Given the description of an element on the screen output the (x, y) to click on. 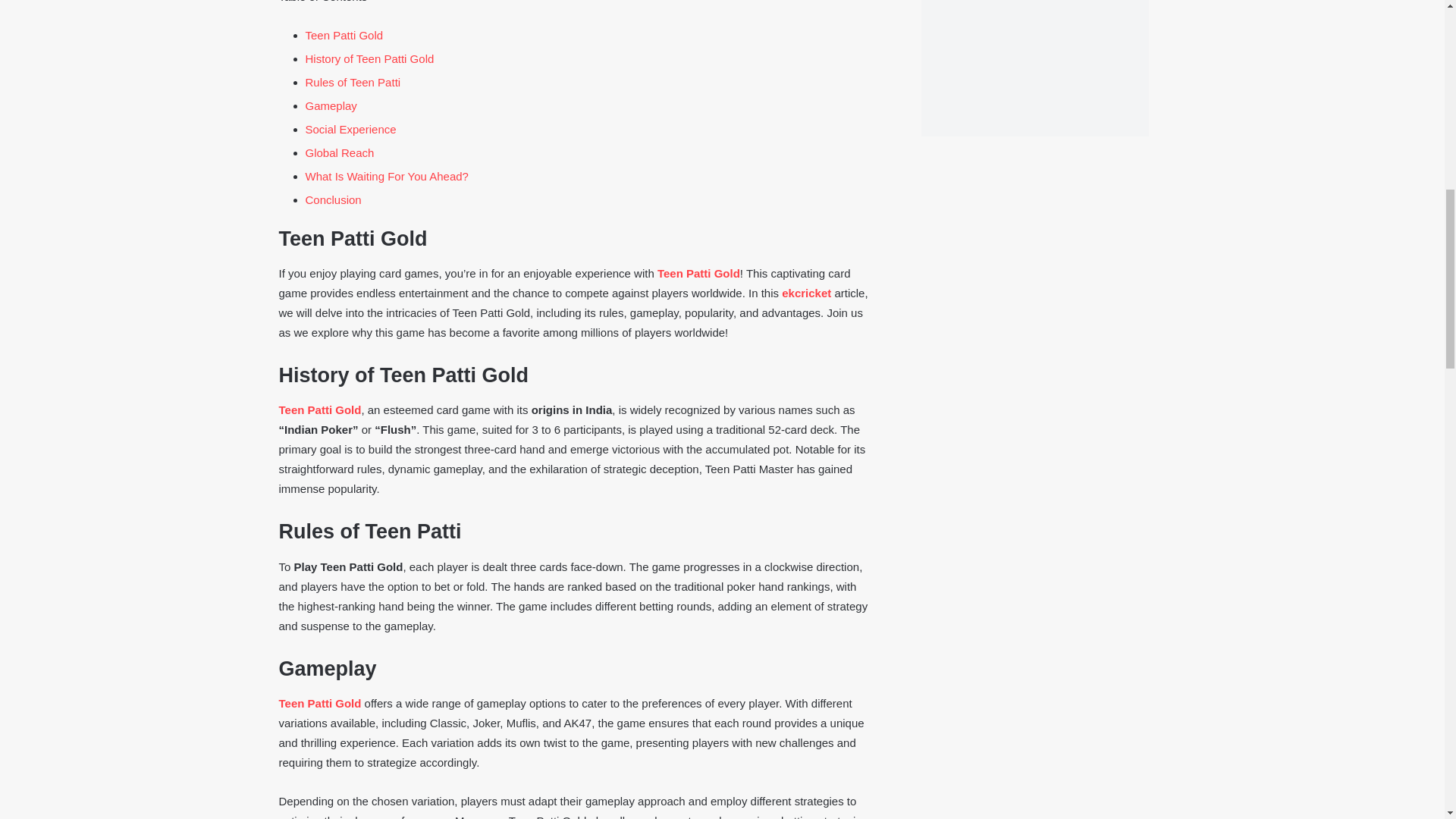
Rules of Teen Patti (352, 82)
Gameplay (330, 105)
Teen Patti Gold (343, 34)
History of Teen Patti Gold (368, 58)
